Given the description of an element on the screen output the (x, y) to click on. 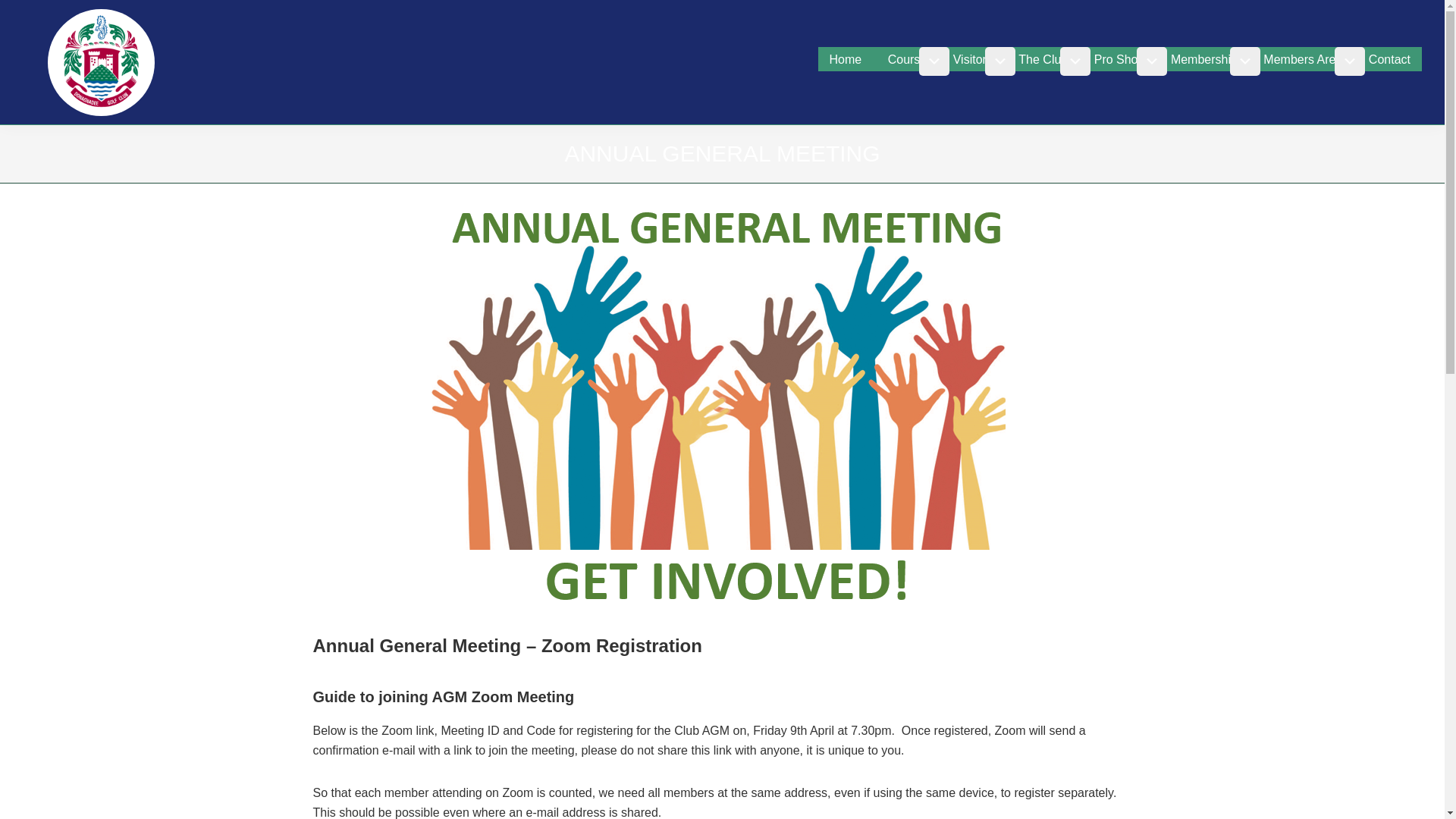
Pro Shop (1119, 58)
Submenu (999, 61)
Submenu (933, 61)
Submenu (1245, 61)
The Club (1042, 58)
Home (845, 58)
Membership (1203, 58)
Members Area (1303, 58)
Submenu (1074, 61)
